Given the description of an element on the screen output the (x, y) to click on. 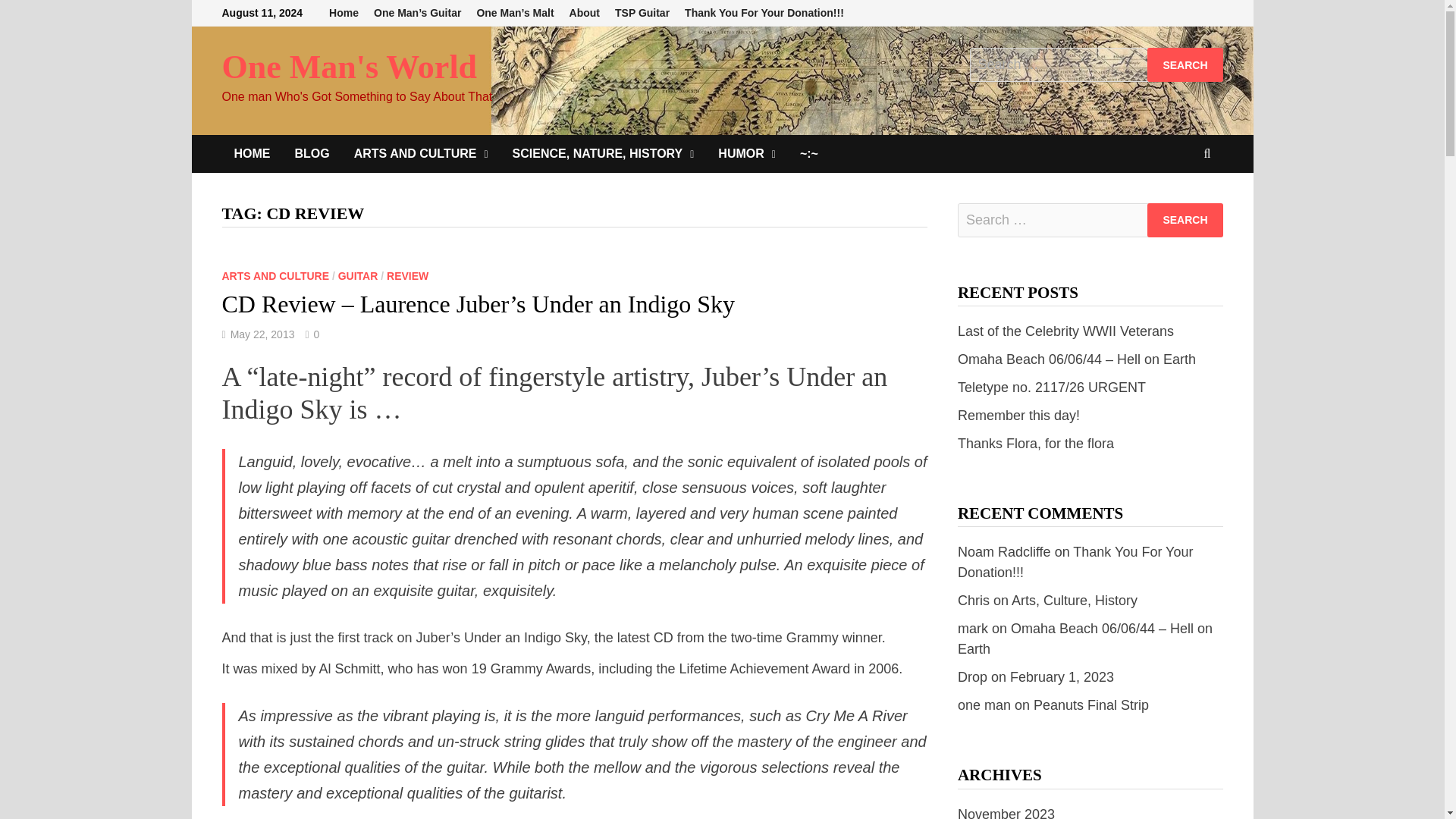
Search (1185, 220)
Thank You For Your Donation!!! (764, 13)
Search (1185, 220)
About (584, 13)
ARTS AND CULTURE (421, 153)
HUMOR (746, 153)
SCIENCE, NATURE, HISTORY (603, 153)
HOME (251, 153)
One Man's World (349, 66)
Reviews and Articles (421, 153)
